Given the description of an element on the screen output the (x, y) to click on. 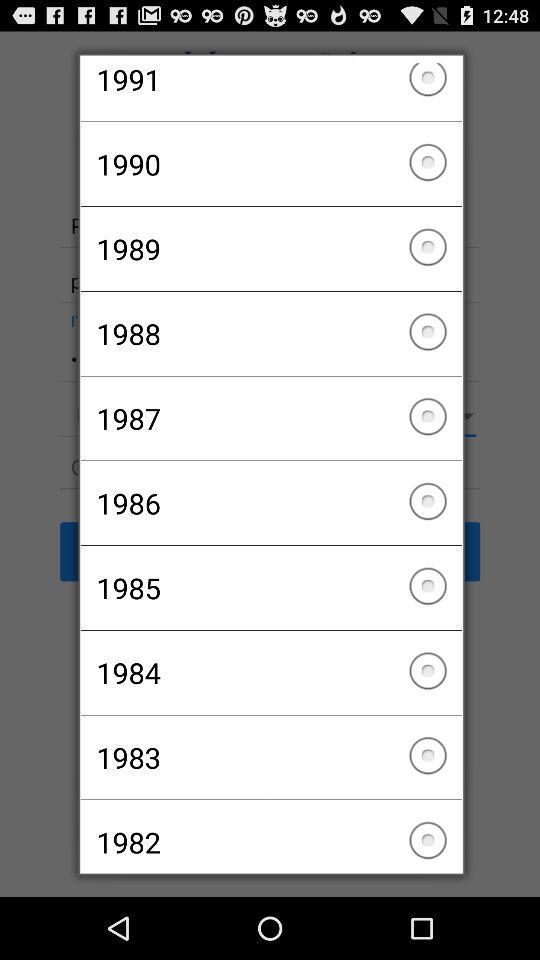
choose item above 1985 checkbox (270, 503)
